Given the description of an element on the screen output the (x, y) to click on. 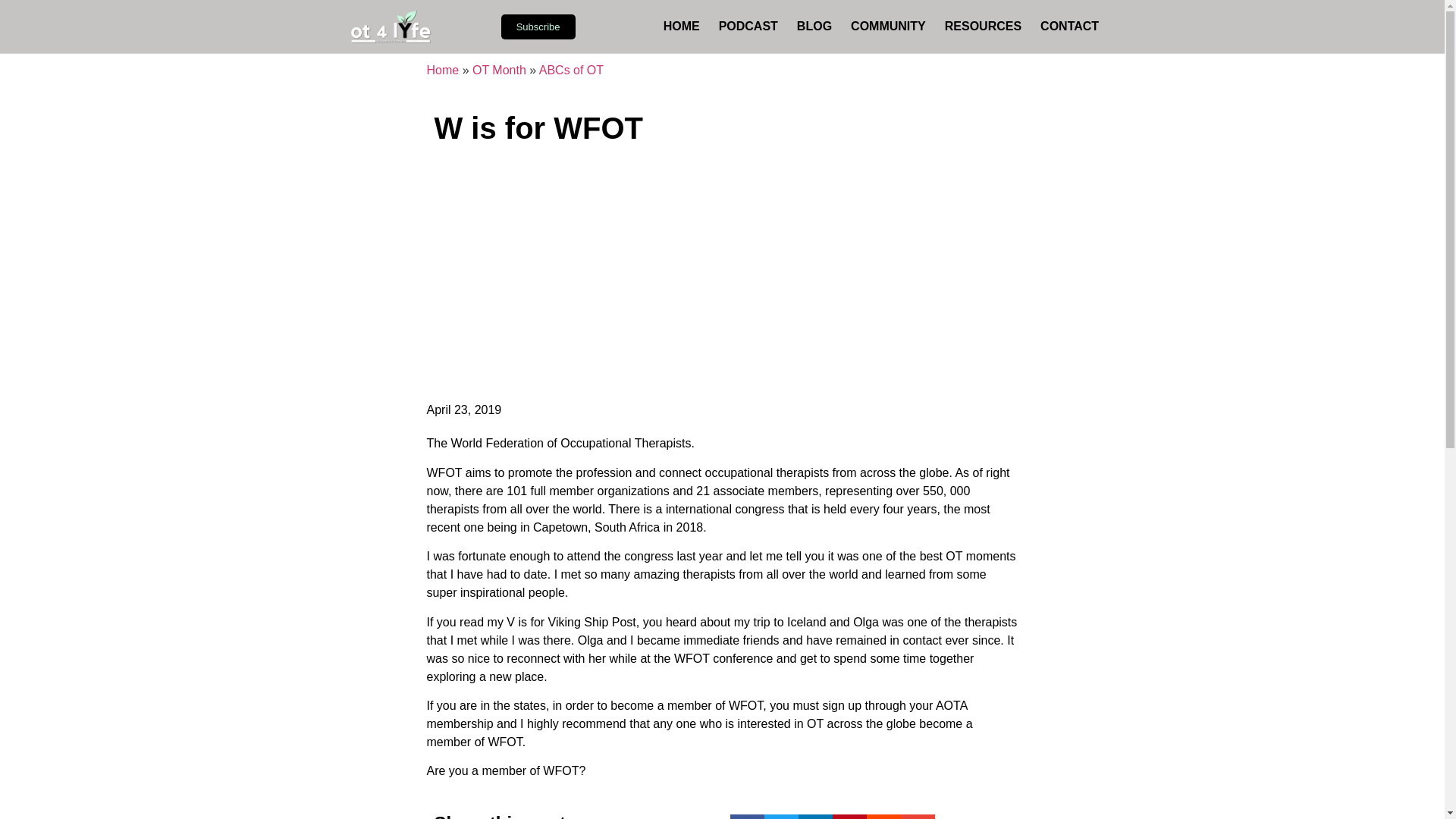
PODCAST (748, 26)
COMMUNITY (888, 26)
RESOURCES (983, 26)
Subscribe (537, 25)
CONTACT (1070, 26)
